Given the description of an element on the screen output the (x, y) to click on. 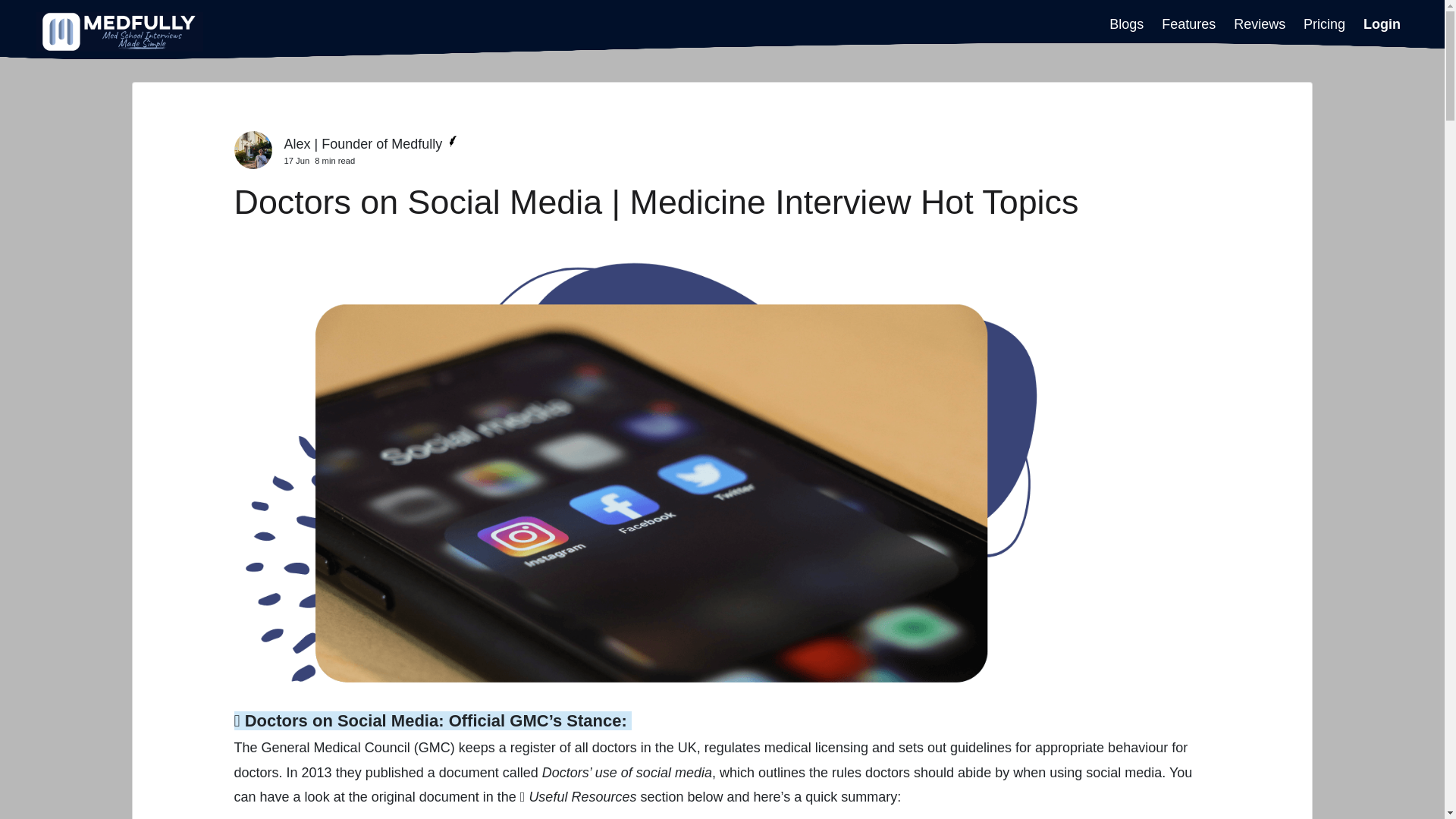
Blogs (1125, 23)
Pricing (1324, 23)
Reviews (1259, 23)
Login (1381, 23)
Features (1188, 23)
